Given the description of an element on the screen output the (x, y) to click on. 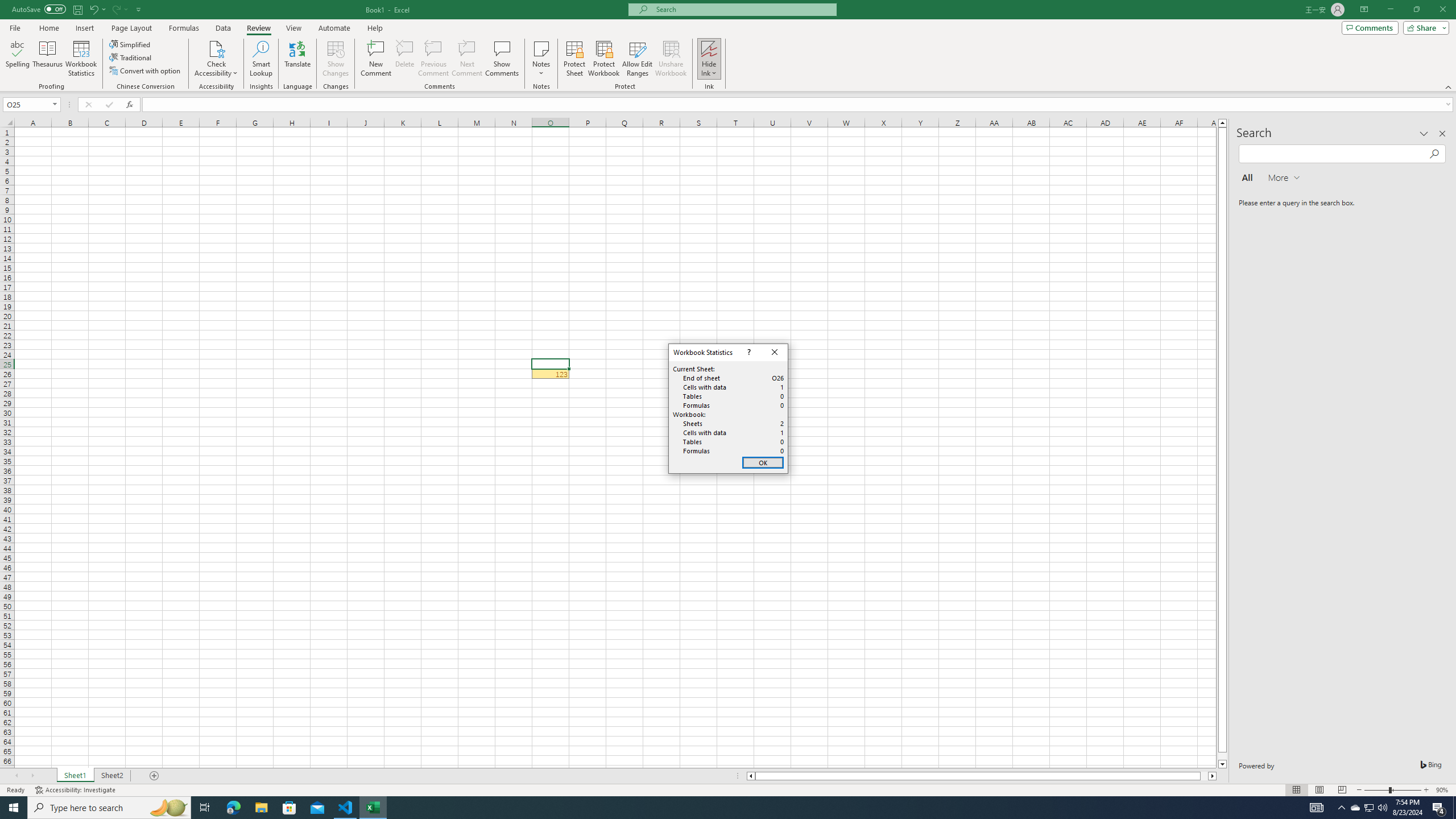
Comments (1369, 27)
System (6, 6)
Name Box (30, 104)
Hide Ink (708, 58)
Name Box (27, 104)
Data (223, 28)
Excel - 1 running window (373, 807)
Show Changes (335, 58)
Protect Sheet... (574, 58)
Microsoft search (742, 9)
Page Layout (1368, 807)
Column left (131, 28)
